Given the description of an element on the screen output the (x, y) to click on. 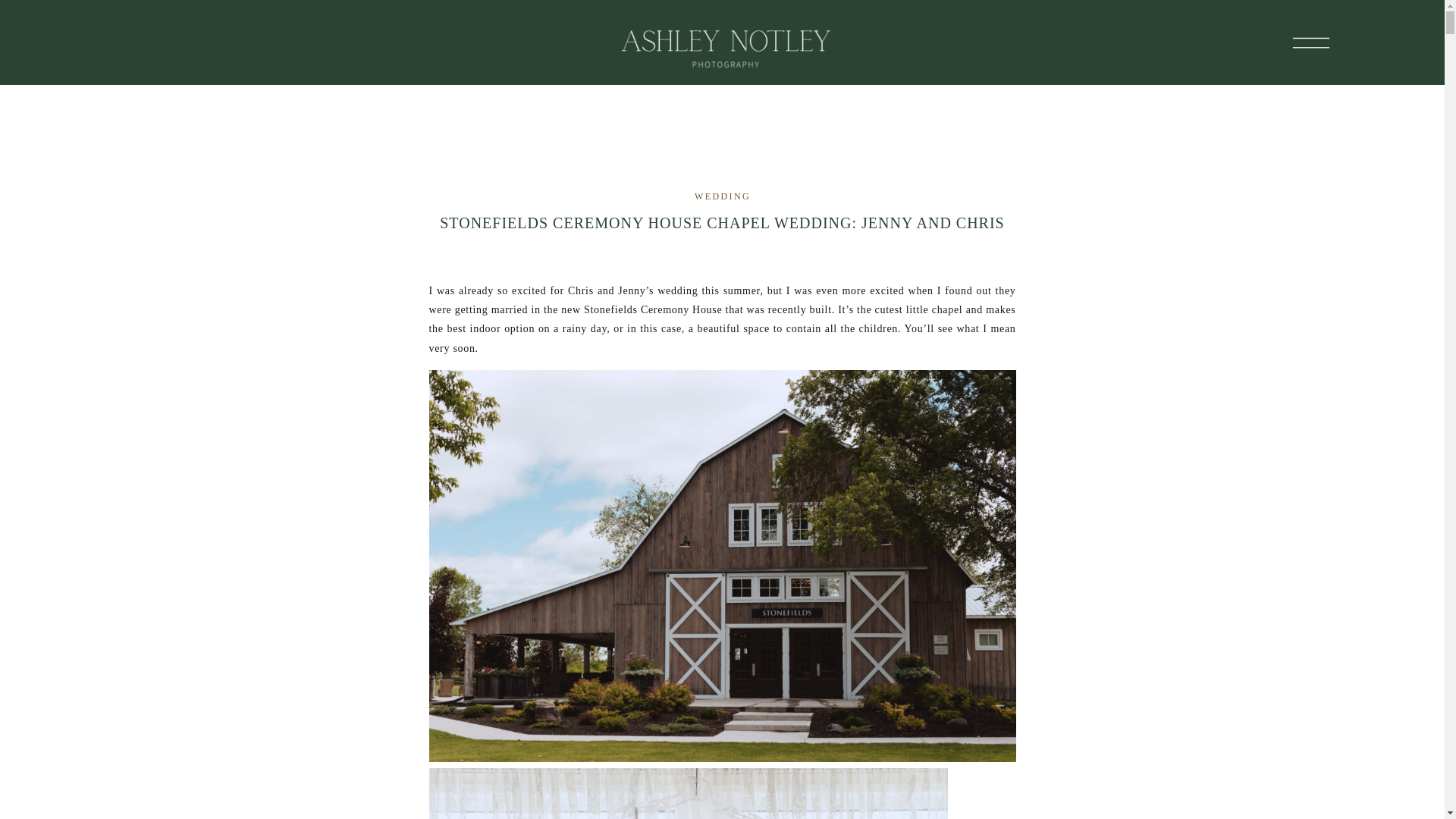
WEDDING (722, 195)
